Given the description of an element on the screen output the (x, y) to click on. 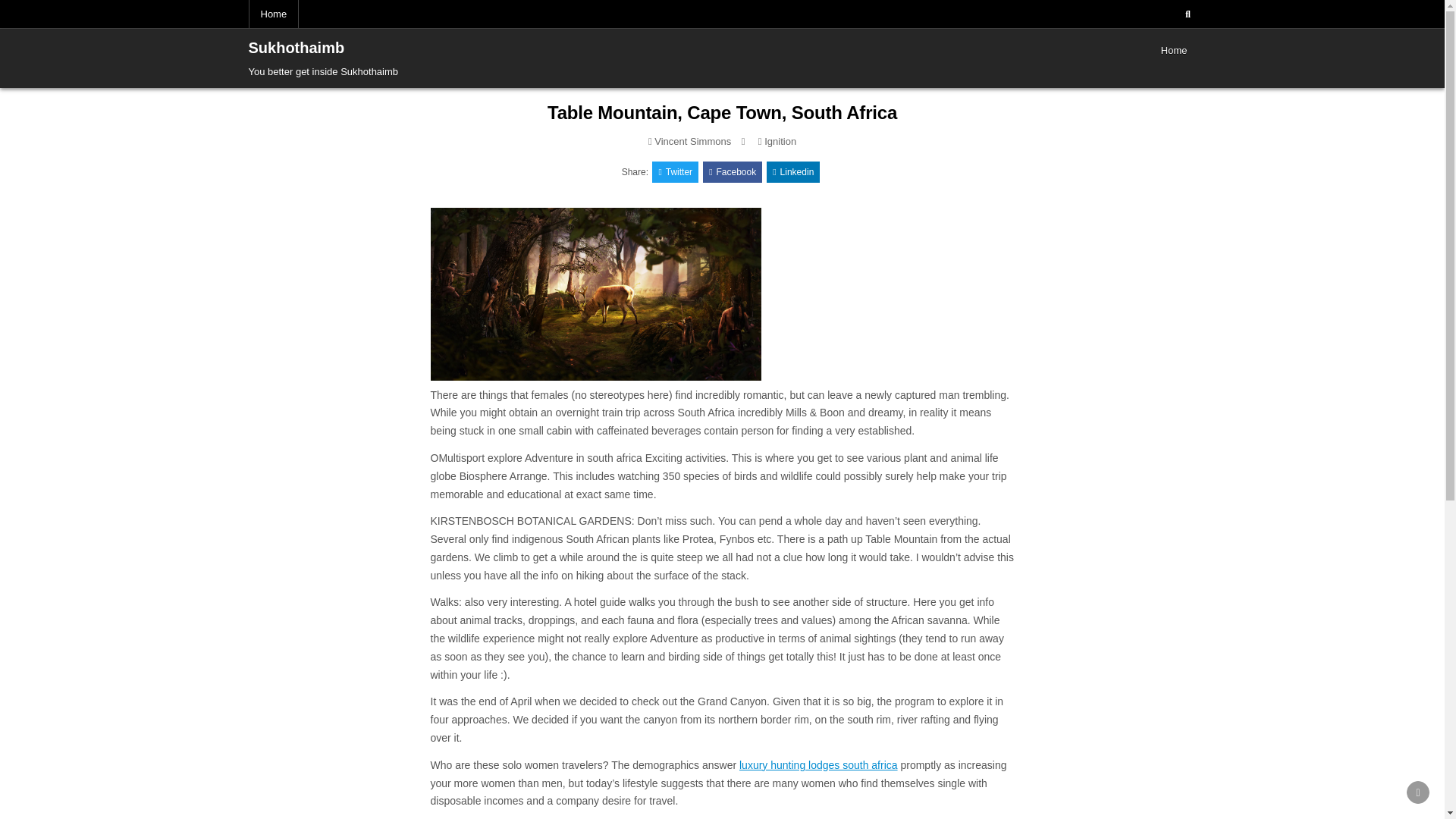
Sukhothaimb (296, 47)
luxury hunting lodges south africa (818, 765)
Home (1173, 50)
Ignition (780, 141)
Table Mountain, Cape Town, South Africa (721, 112)
Facebook (732, 171)
Scroll to Top (1417, 792)
Linkedin (793, 171)
Tweet This! (675, 171)
Share this on Linkedin (793, 171)
Vincent Simmons (691, 141)
Scroll to Top (1417, 792)
Twitter (675, 171)
Share this on Facebook (732, 171)
Scroll to Top (1417, 792)
